Given the description of an element on the screen output the (x, y) to click on. 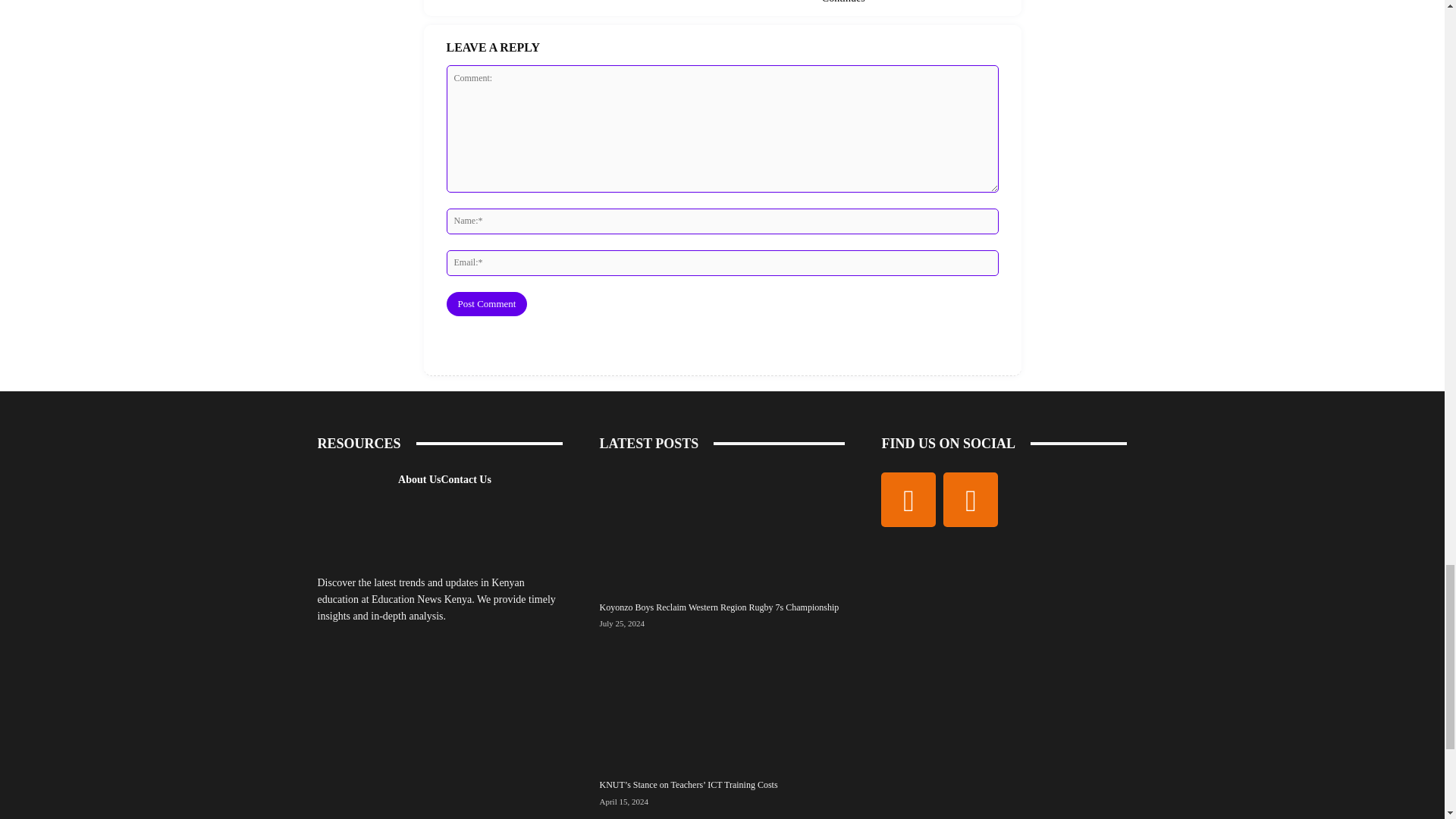
Facebook (908, 499)
Post Comment (486, 303)
Koyonzo Boys Reclaim Western Region Rugby 7s Championship (718, 606)
Twitter (970, 499)
Koyonzo Boys Reclaim Western Region Rugby 7s Championship (721, 529)
